Given the description of an element on the screen output the (x, y) to click on. 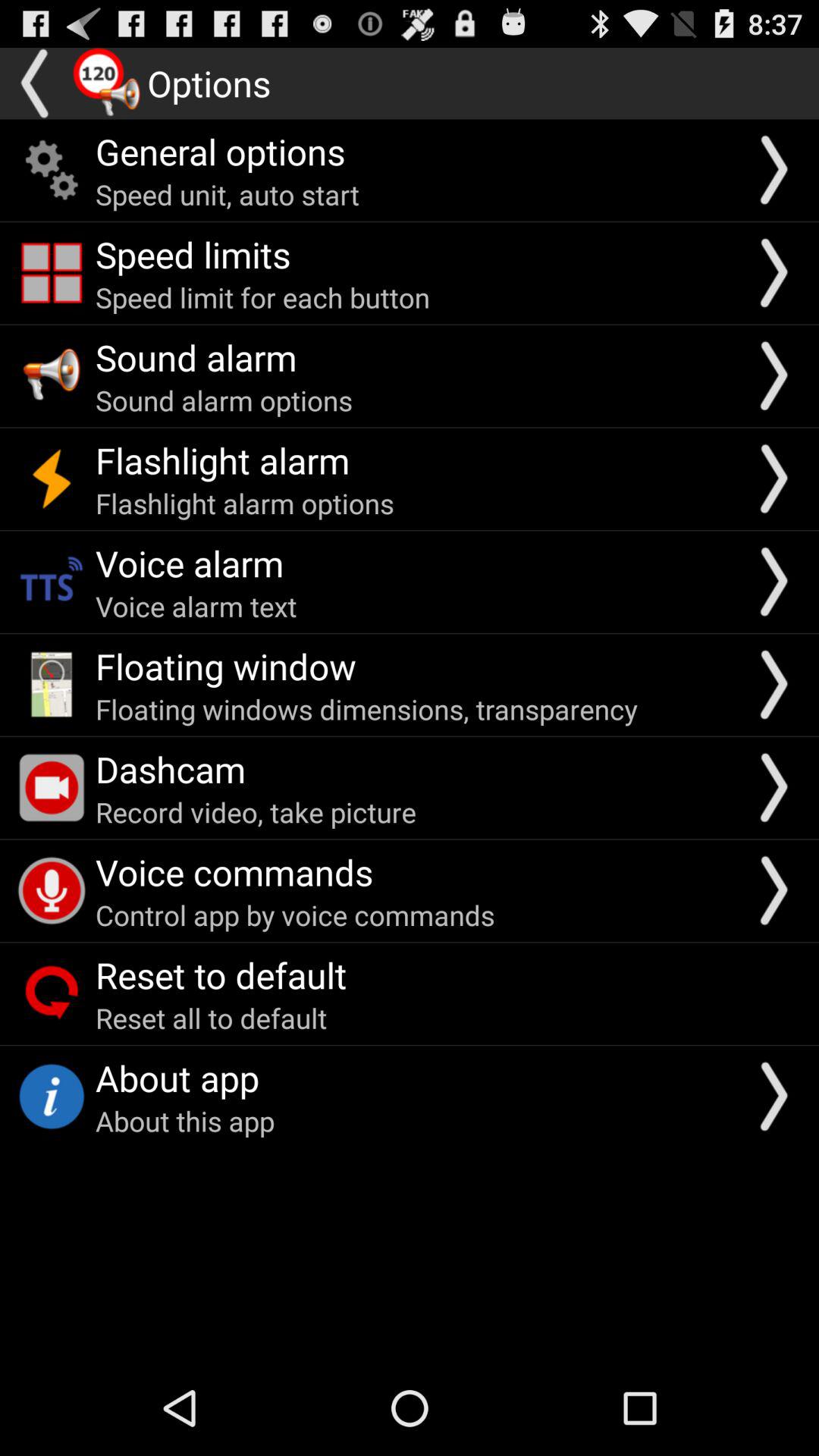
flip until dashcam item (170, 769)
